Given the description of an element on the screen output the (x, y) to click on. 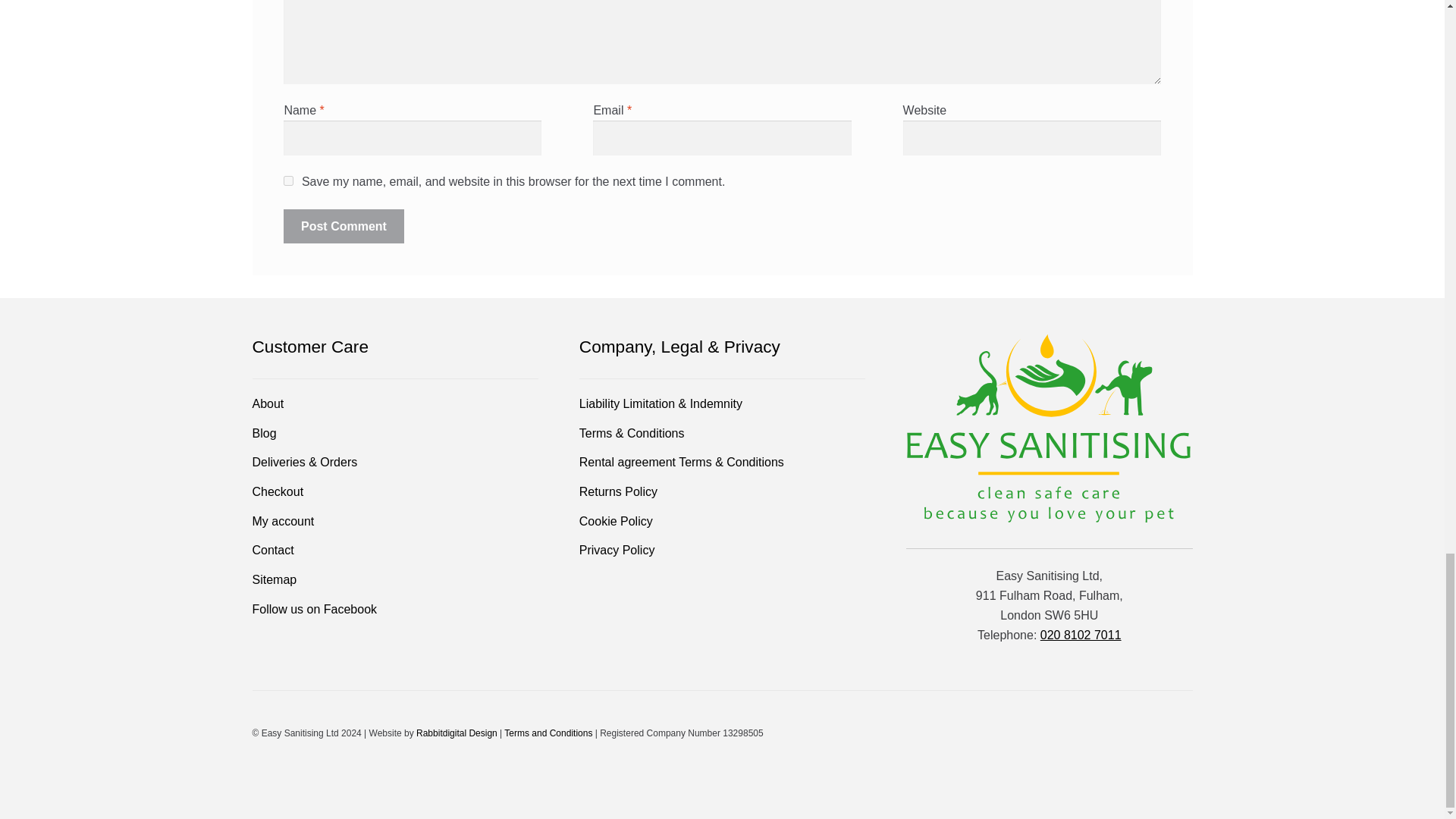
Post Comment (343, 226)
yes (288, 180)
Post Comment (343, 226)
About (267, 403)
Website design and development (456, 733)
Terms and Conditions (547, 733)
